Given the description of an element on the screen output the (x, y) to click on. 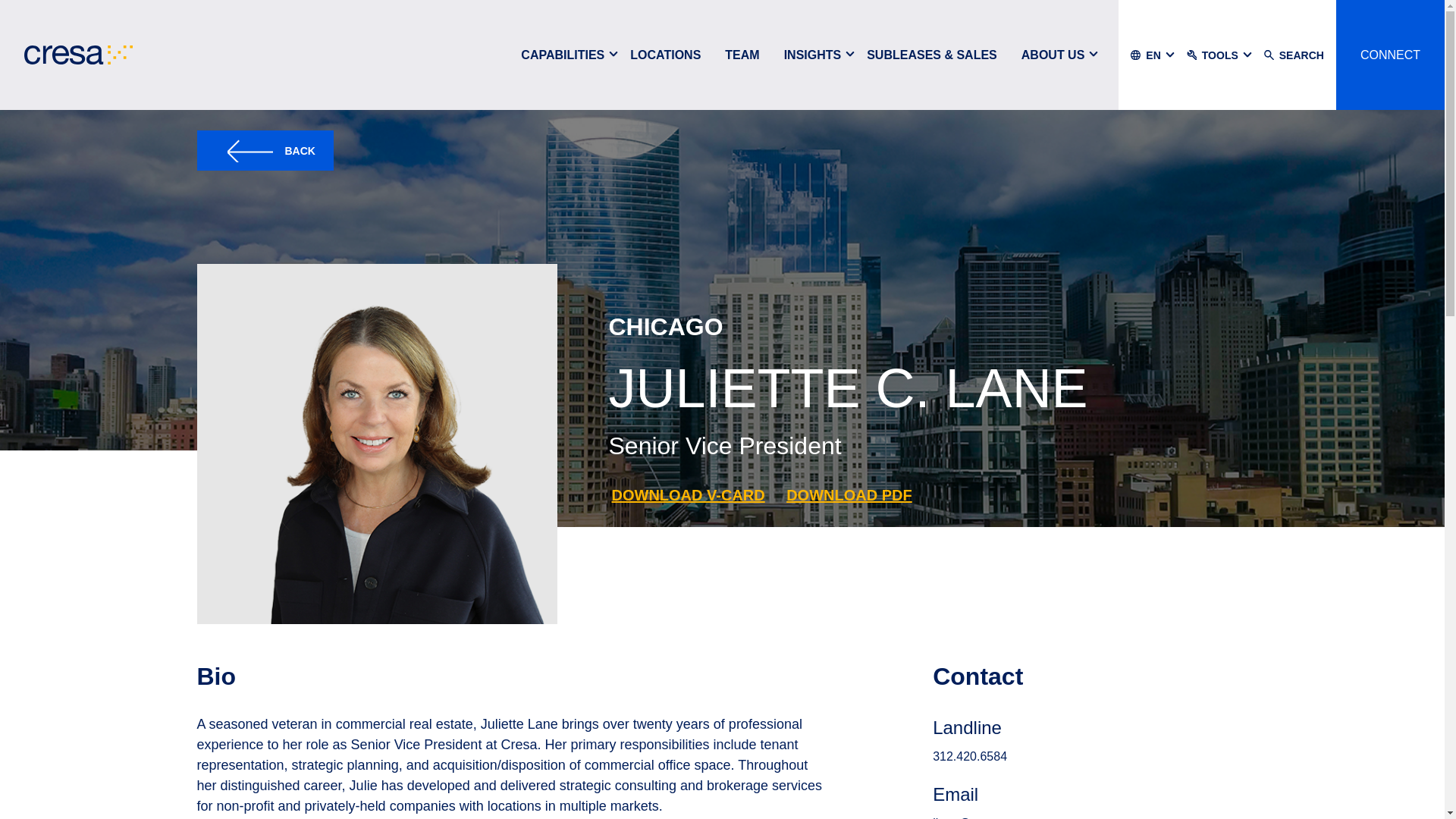
TEAM (742, 54)
LOCATIONS (665, 54)
INSIGHTS (812, 54)
CAPABILITIES (561, 54)
